Given the description of an element on the screen output the (x, y) to click on. 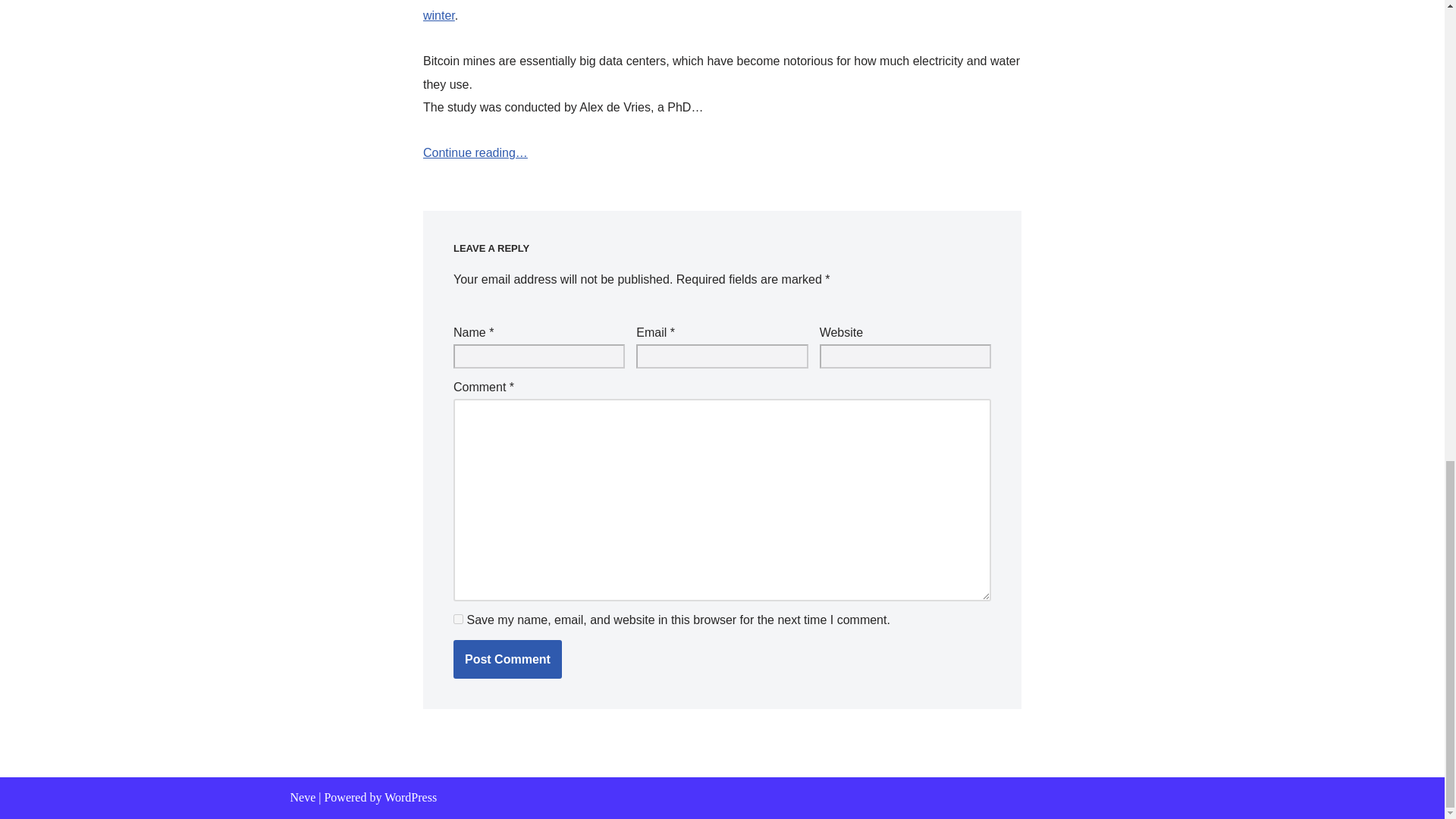
yes (457, 619)
spiraling crypto winter (707, 10)
Post Comment (507, 659)
Neve (302, 797)
Post Comment (507, 659)
WordPress (410, 797)
